Given the description of an element on the screen output the (x, y) to click on. 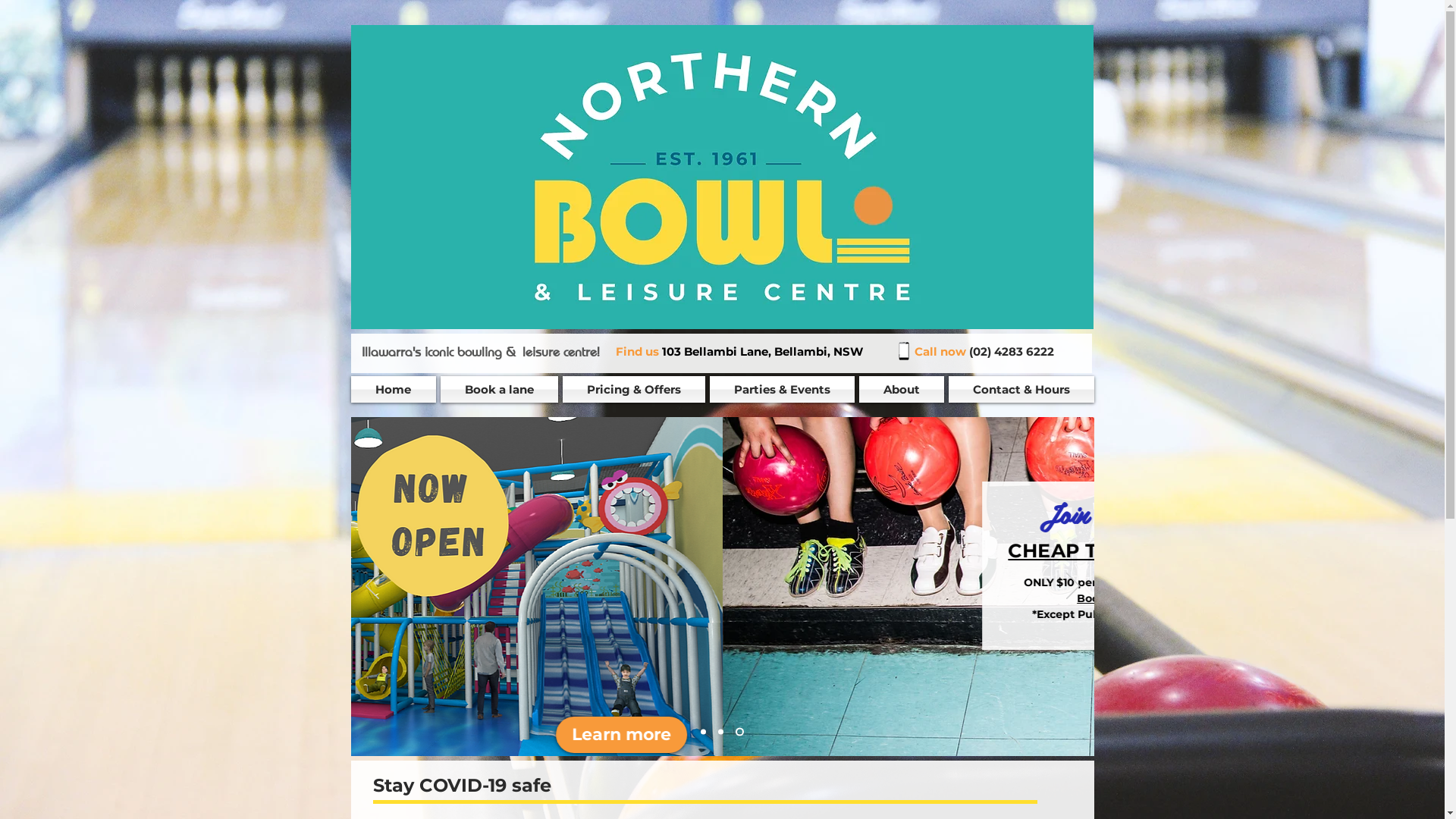
Parties & Events Element type: text (781, 389)
Contact & Hours Element type: text (1020, 389)
Pricing & Offers Element type: text (632, 389)
About Element type: text (901, 389)
Book a lane Element type: text (499, 389)
Learn more Element type: text (991, 734)
Home Element type: text (393, 389)
